Given the description of an element on the screen output the (x, y) to click on. 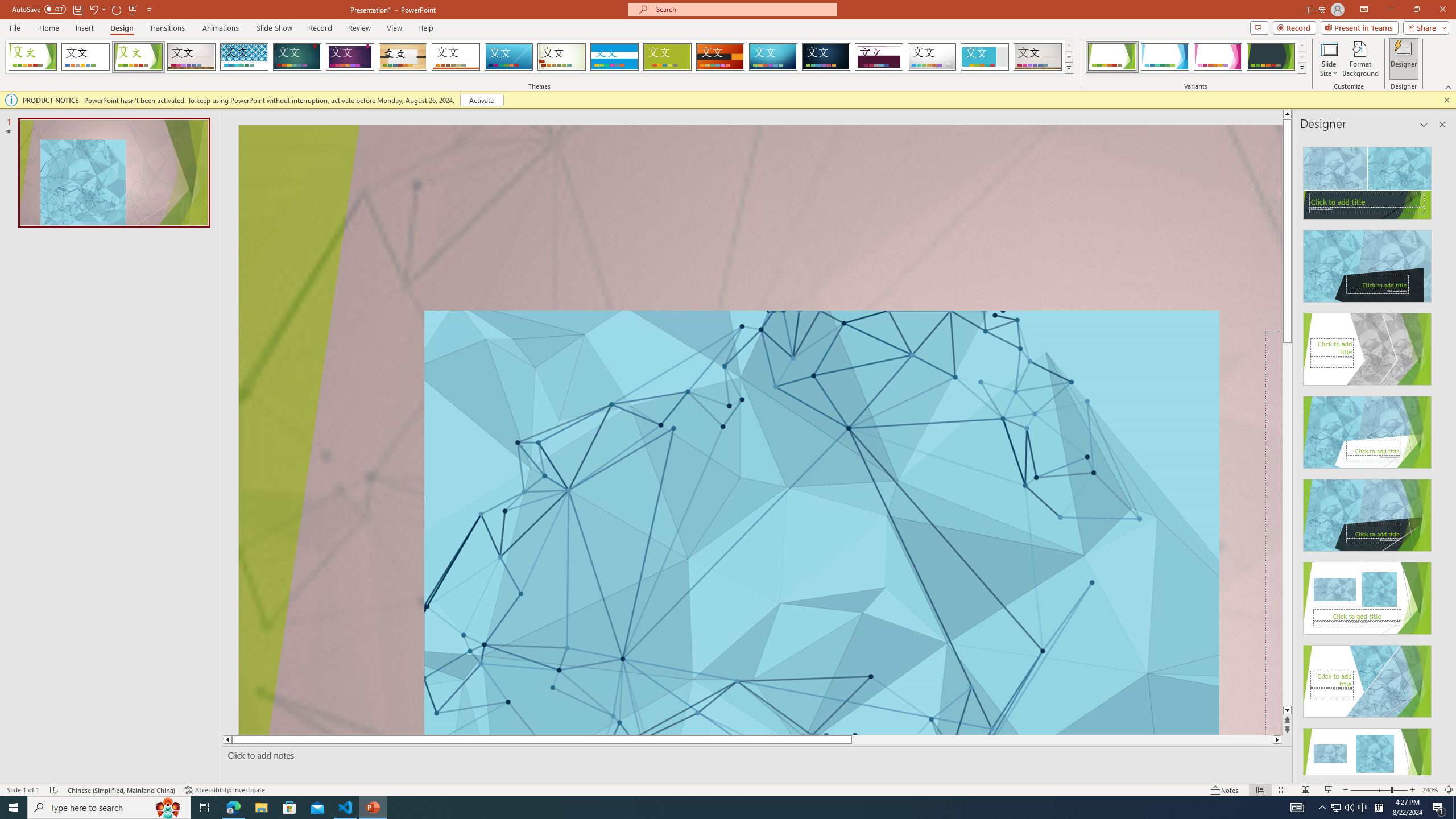
Circuit (772, 56)
Basis (667, 56)
AutomationID: SlideThemesGallery (539, 56)
Damask (826, 56)
Variants (1301, 67)
Berlin (720, 56)
Frame (984, 56)
